Given the description of an element on the screen output the (x, y) to click on. 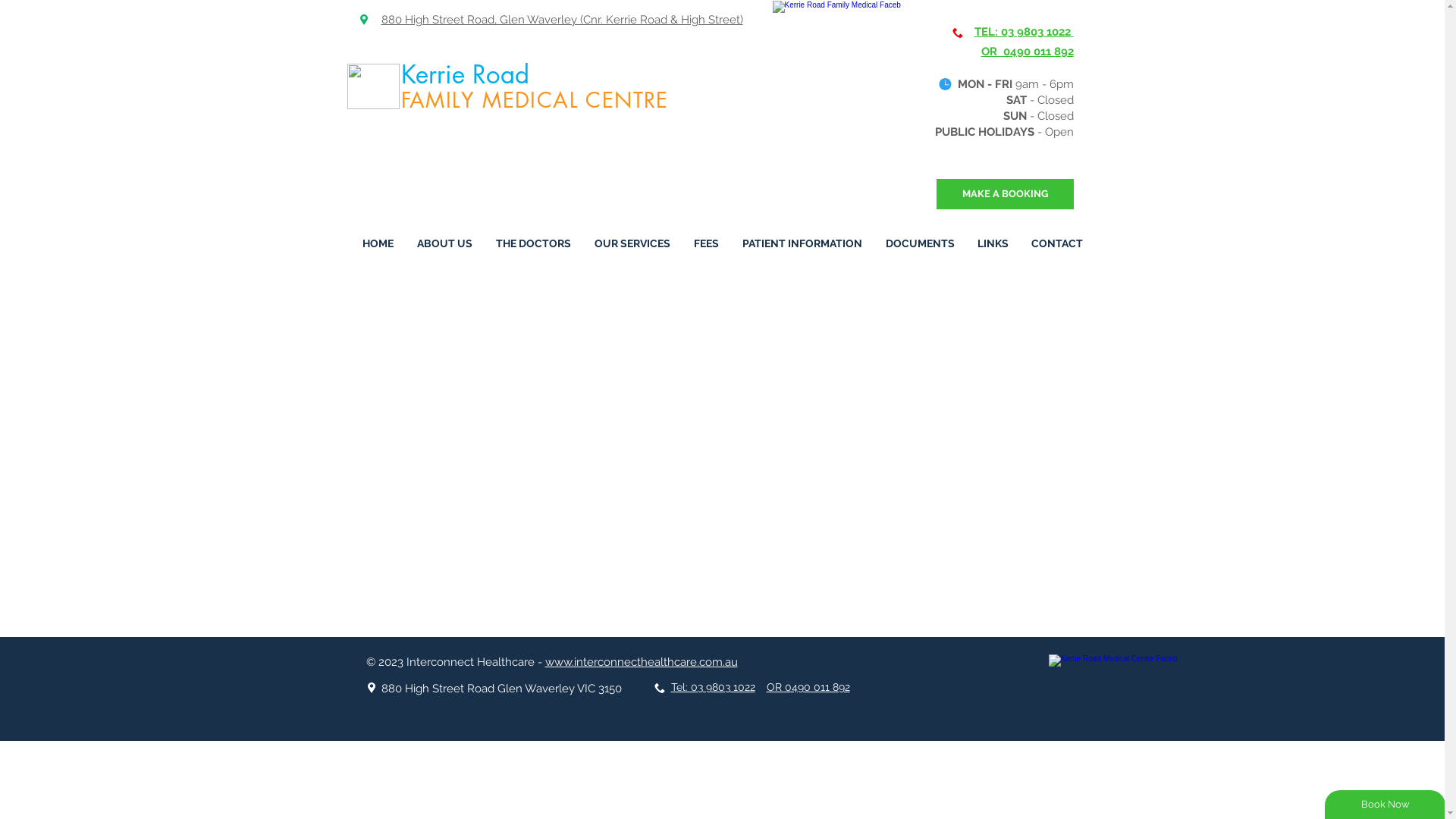
OUR SERVICES Element type: text (631, 243)
www.interconnecthealthcare.com.au Element type: text (640, 661)
FAMILY MEDICAL CENTRE Element type: text (534, 98)
LINKS Element type: text (992, 243)
Tel: 03 9803 1022 Element type: text (712, 686)
HOME Element type: text (377, 243)
THE DOCTORS Element type: text (532, 243)
FEES Element type: text (706, 243)
TEL: 03 9803 1022 Element type: text (1021, 31)
OR  0490 011 892 Element type: text (1027, 51)
Kerrie Road  Element type: text (468, 74)
OR 0490 011 892 Element type: text (807, 686)
PATIENT INFORMATION Element type: text (802, 243)
MAKE A BOOKING Element type: text (1004, 193)
ABOUT US Element type: text (443, 243)
CONTACT Element type: text (1056, 243)
DOCUMENTS Element type: text (919, 243)
Embedded Content Element type: hover (721, 446)
